Given the description of an element on the screen output the (x, y) to click on. 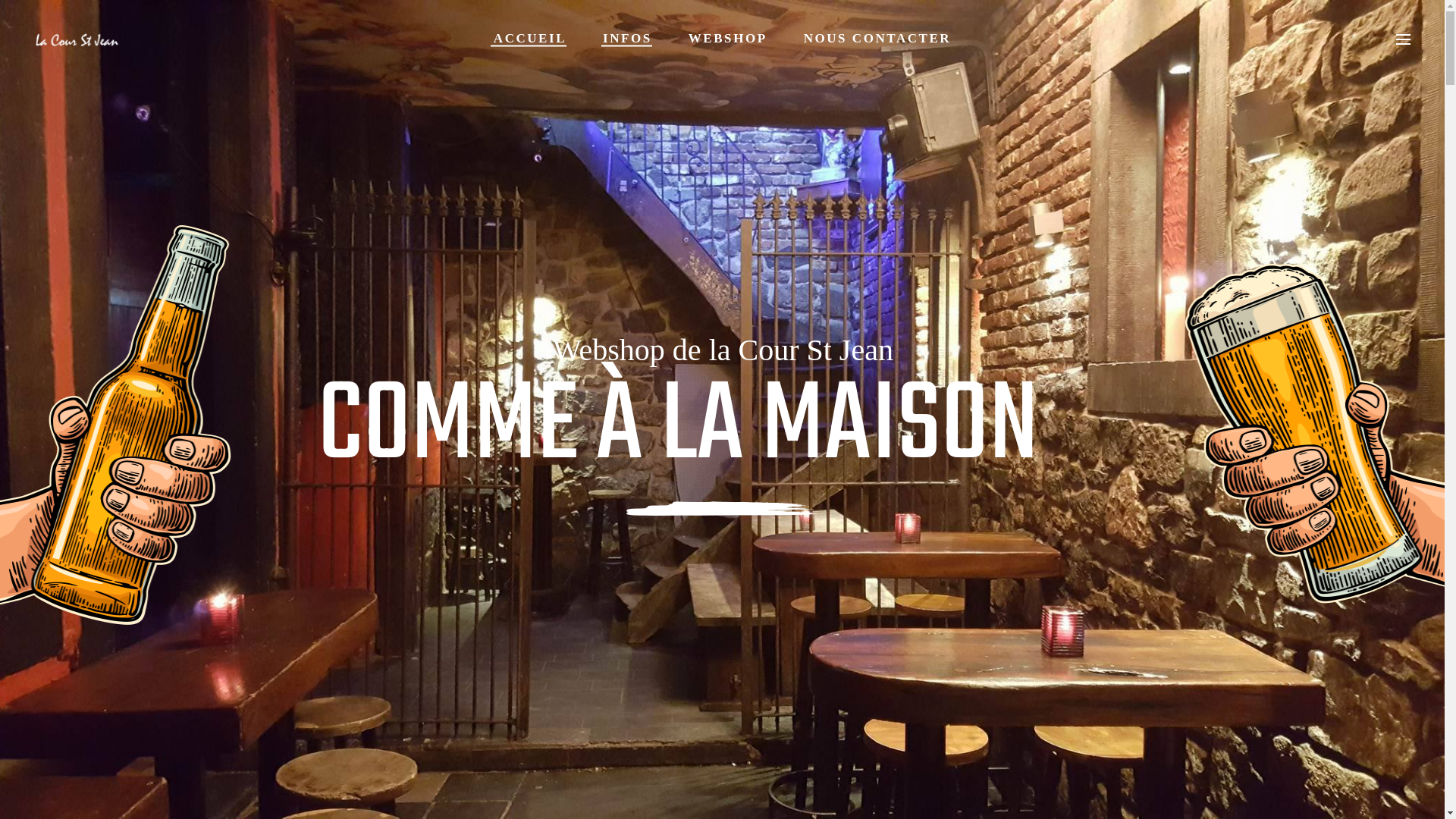
NOUS CONTACTER Element type: text (877, 37)
ACCUEIL Element type: text (529, 37)
WEBSHOP Element type: text (727, 37)
INFOS Element type: text (627, 37)
